Given the description of an element on the screen output the (x, y) to click on. 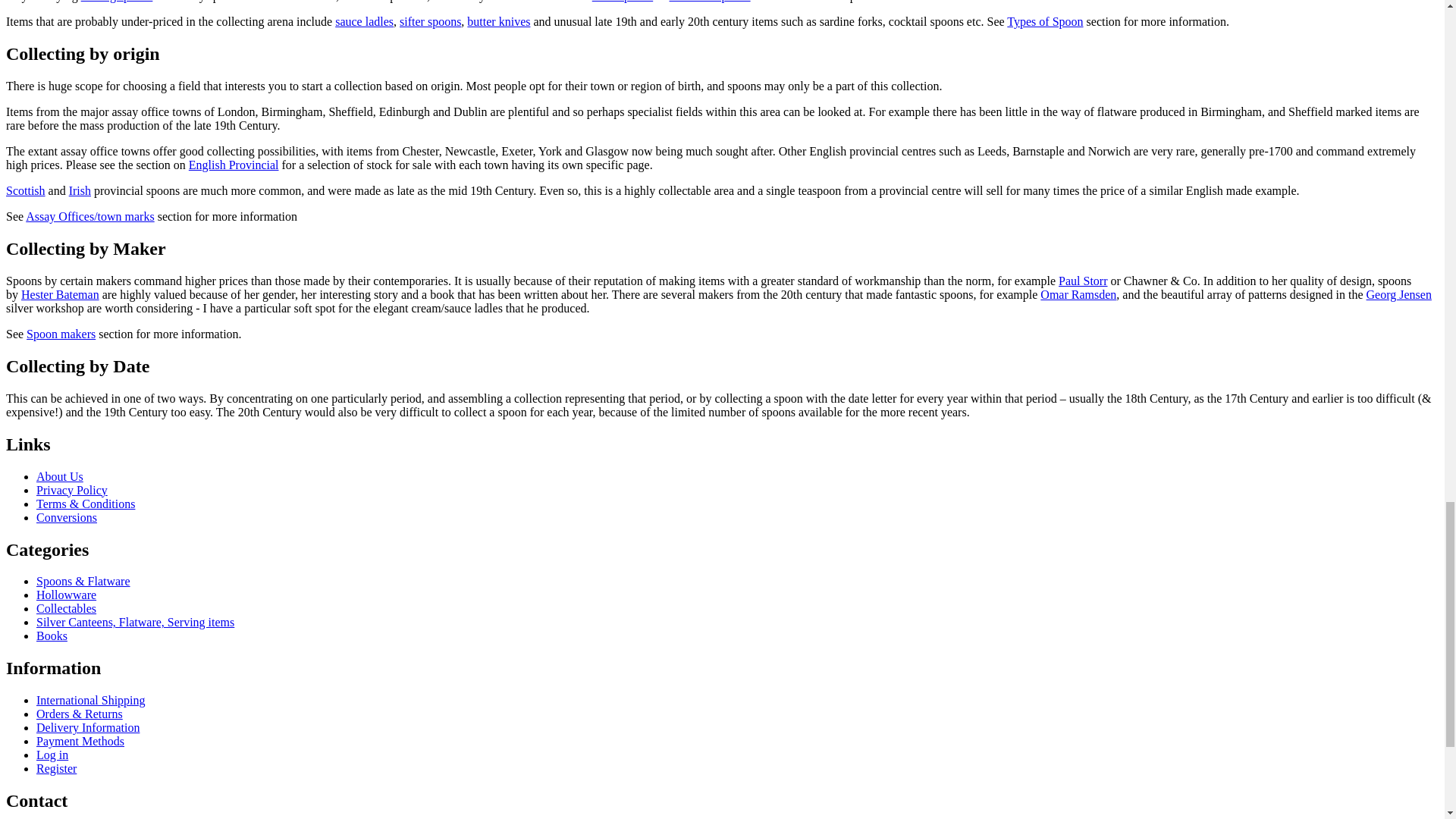
About Us (59, 476)
basting spoons (116, 1)
medicine spoons (710, 1)
Privacy Policy (71, 490)
Conversions (66, 517)
sauce ladles (363, 21)
mote spoons (622, 1)
